Given the description of an element on the screen output the (x, y) to click on. 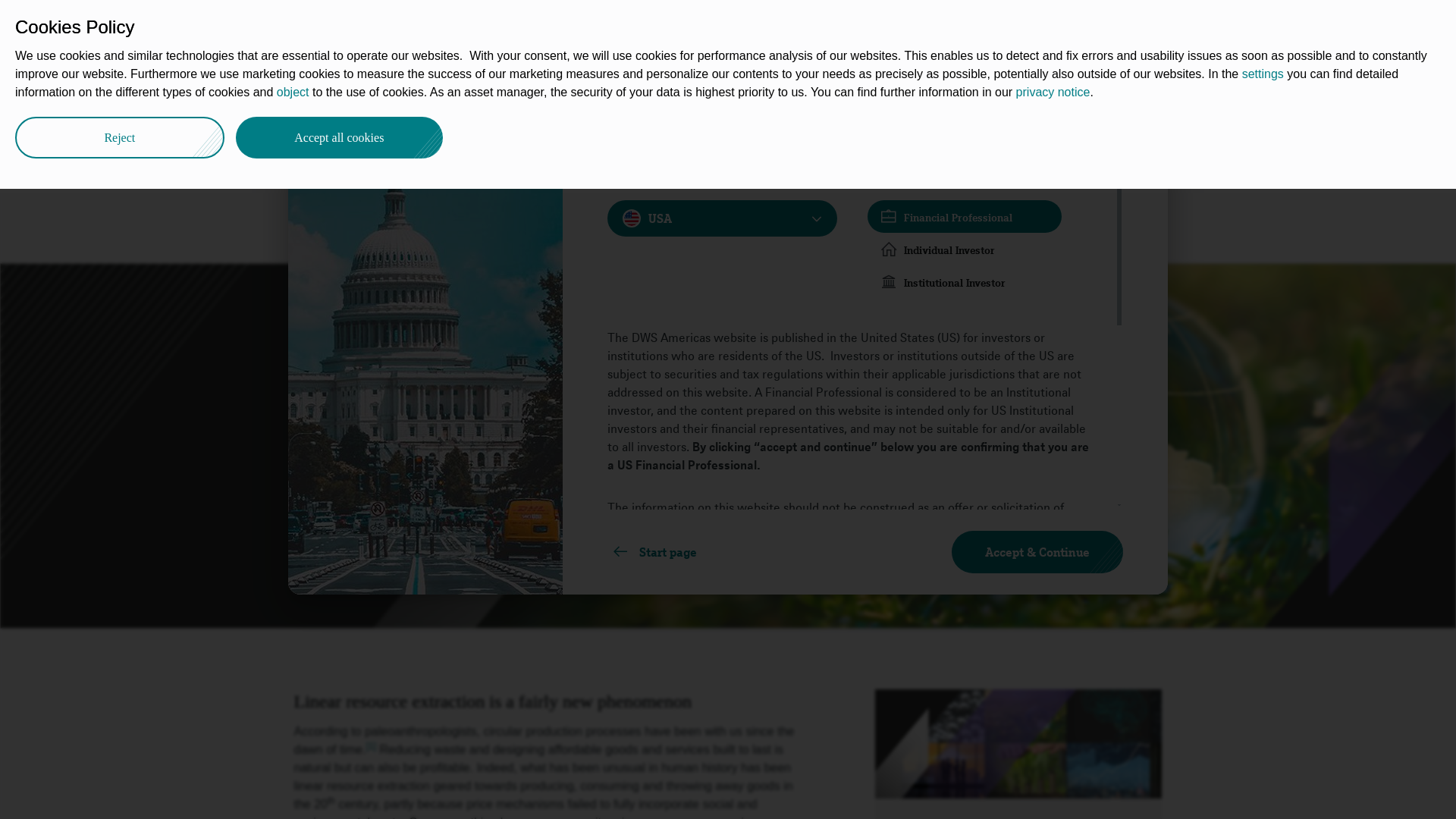
Resources (736, 24)
Macro (531, 92)
Solutions (614, 24)
Products (673, 24)
Capabilities (483, 24)
Insights (376, 92)
Share (1140, 90)
DWS - Investors for a new now (322, 92)
Macro (531, 92)
Strategies (551, 24)
Global CIO View (455, 92)
Profile (792, 24)
Home (322, 92)
Print (1159, 91)
Insights (376, 92)
